Given the description of an element on the screen output the (x, y) to click on. 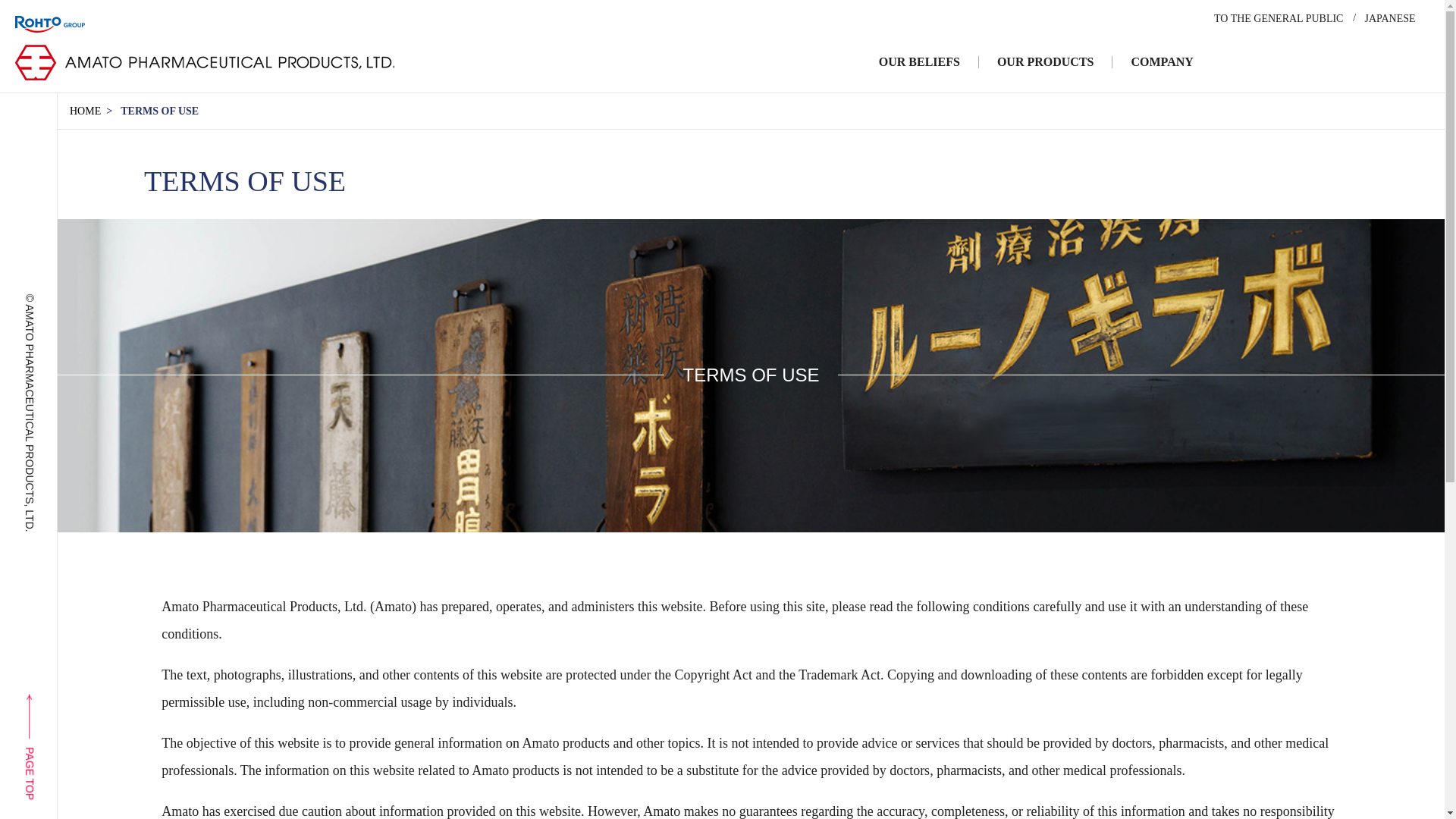
HOME (84, 111)
JAPANESE (1389, 18)
OUR BELIEFS (919, 61)
COMPANY (1161, 61)
OUR PRODUCTS (1045, 61)
TO THE GENERAL PUBLIC (1278, 18)
PAGE TOP (74, 701)
